Given the description of an element on the screen output the (x, y) to click on. 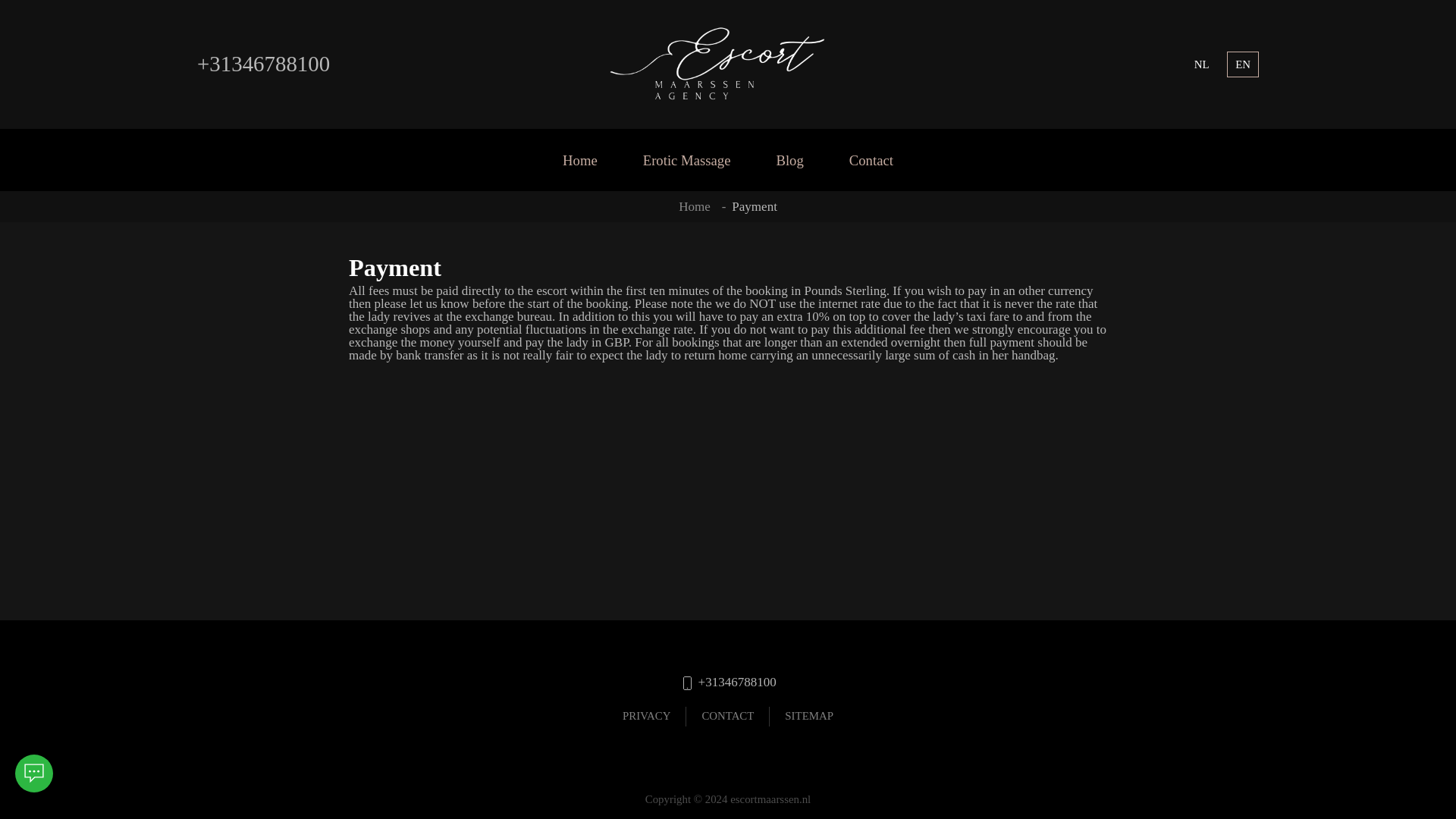
Home (694, 205)
Contact (727, 716)
default (1201, 64)
PRIVACY (646, 716)
Home (694, 205)
Contact (871, 159)
Blog (788, 159)
en (1242, 64)
SITEMAP (808, 716)
Blog (788, 159)
Erotic Massage (687, 159)
Home (580, 159)
Erotic Massage (687, 159)
CONTACT (727, 716)
Sitemap (808, 716)
